Given the description of an element on the screen output the (x, y) to click on. 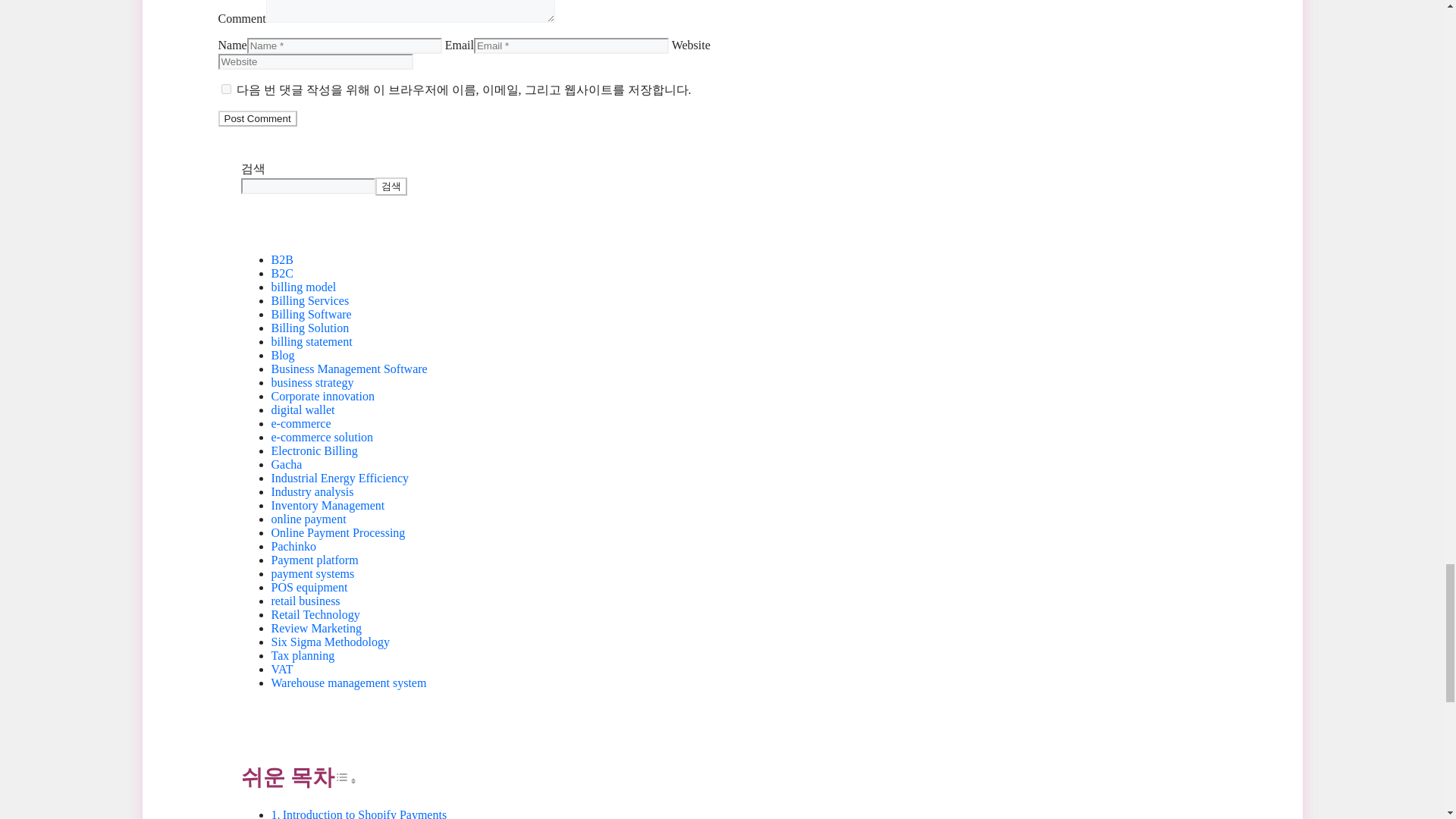
B2C (282, 273)
Post Comment (257, 118)
B2B (282, 259)
billing model (303, 286)
yes (226, 89)
Post Comment (257, 118)
